Given the description of an element on the screen output the (x, y) to click on. 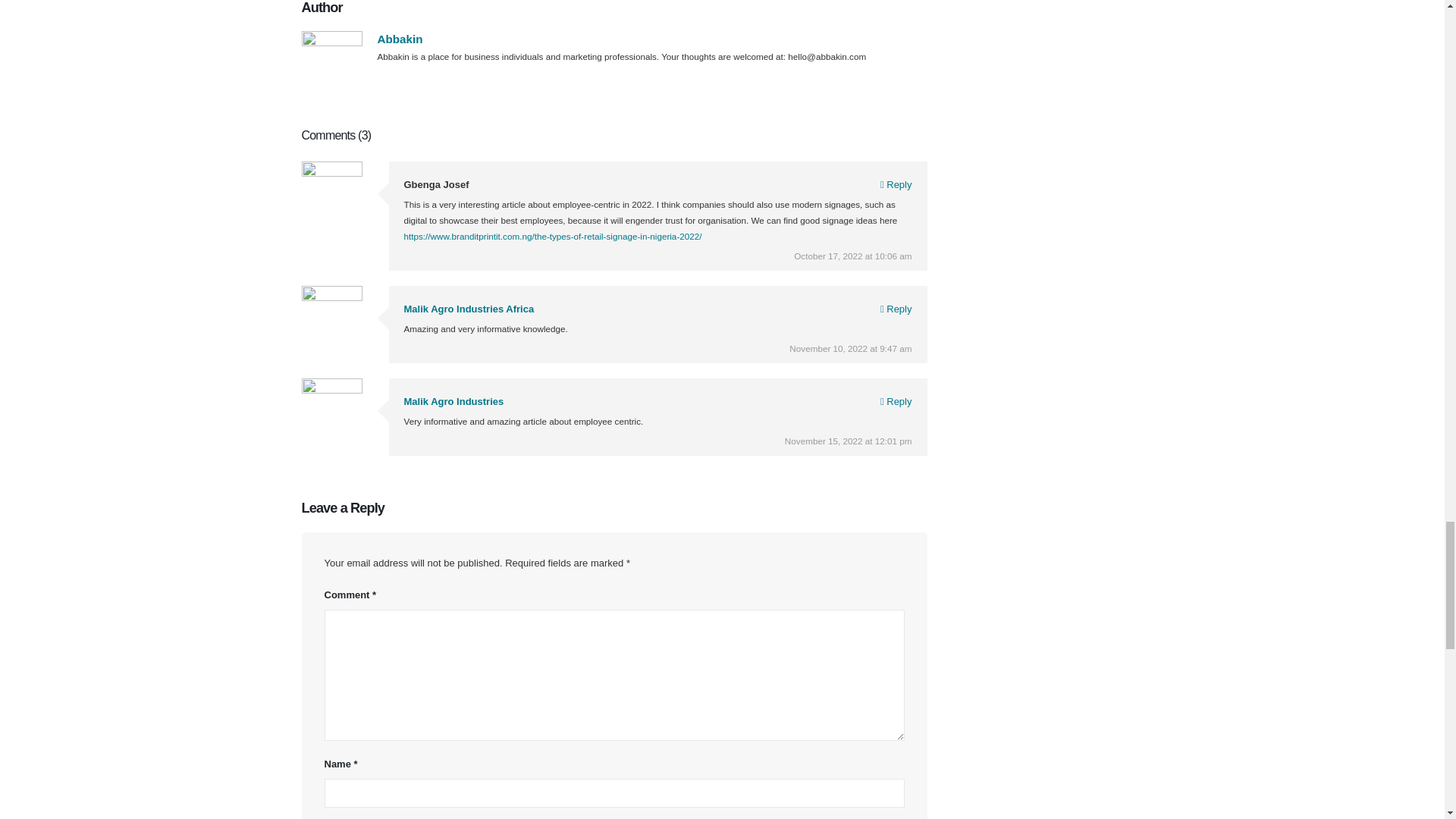
Posts by Abbakin (400, 38)
